Given the description of an element on the screen output the (x, y) to click on. 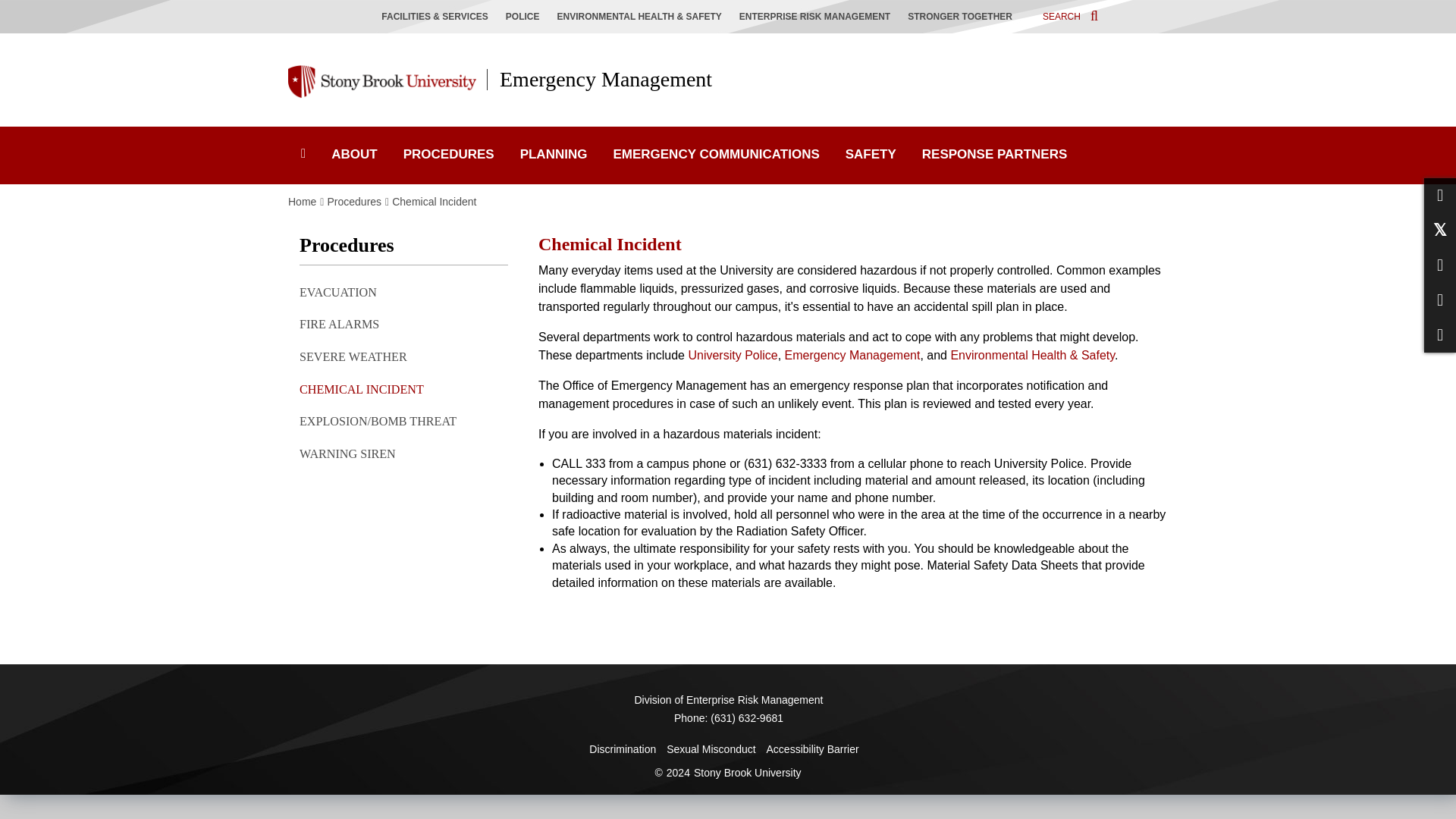
Search (1070, 15)
POLICE (526, 16)
PLANNING (552, 155)
EMERGENCY COMMUNICATIONS (715, 155)
PROCEDURES (448, 155)
SAFETY (870, 155)
Emergency Management (598, 79)
STRONGER TOGETHER (963, 16)
RESPONSE PARTNERS (994, 155)
ENTERPRISE RISK MANAGEMENT (818, 16)
ABOUT (354, 155)
